Given the description of an element on the screen output the (x, y) to click on. 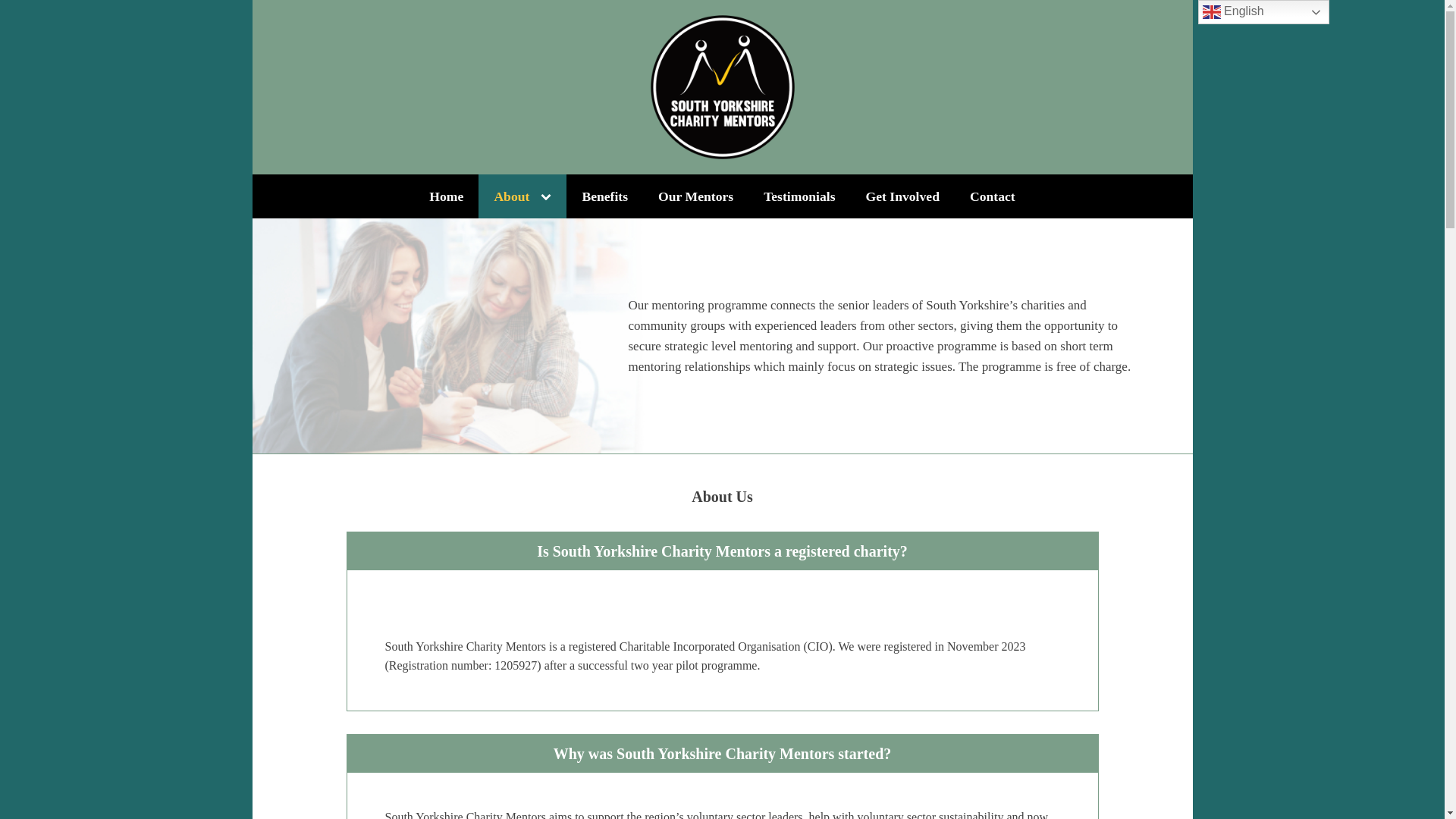
Home (446, 196)
Our Mentors (695, 196)
Contact (992, 196)
English (1263, 12)
About (522, 196)
Benefits (604, 196)
Testimonials (799, 196)
Get Involved (902, 196)
